Given the description of an element on the screen output the (x, y) to click on. 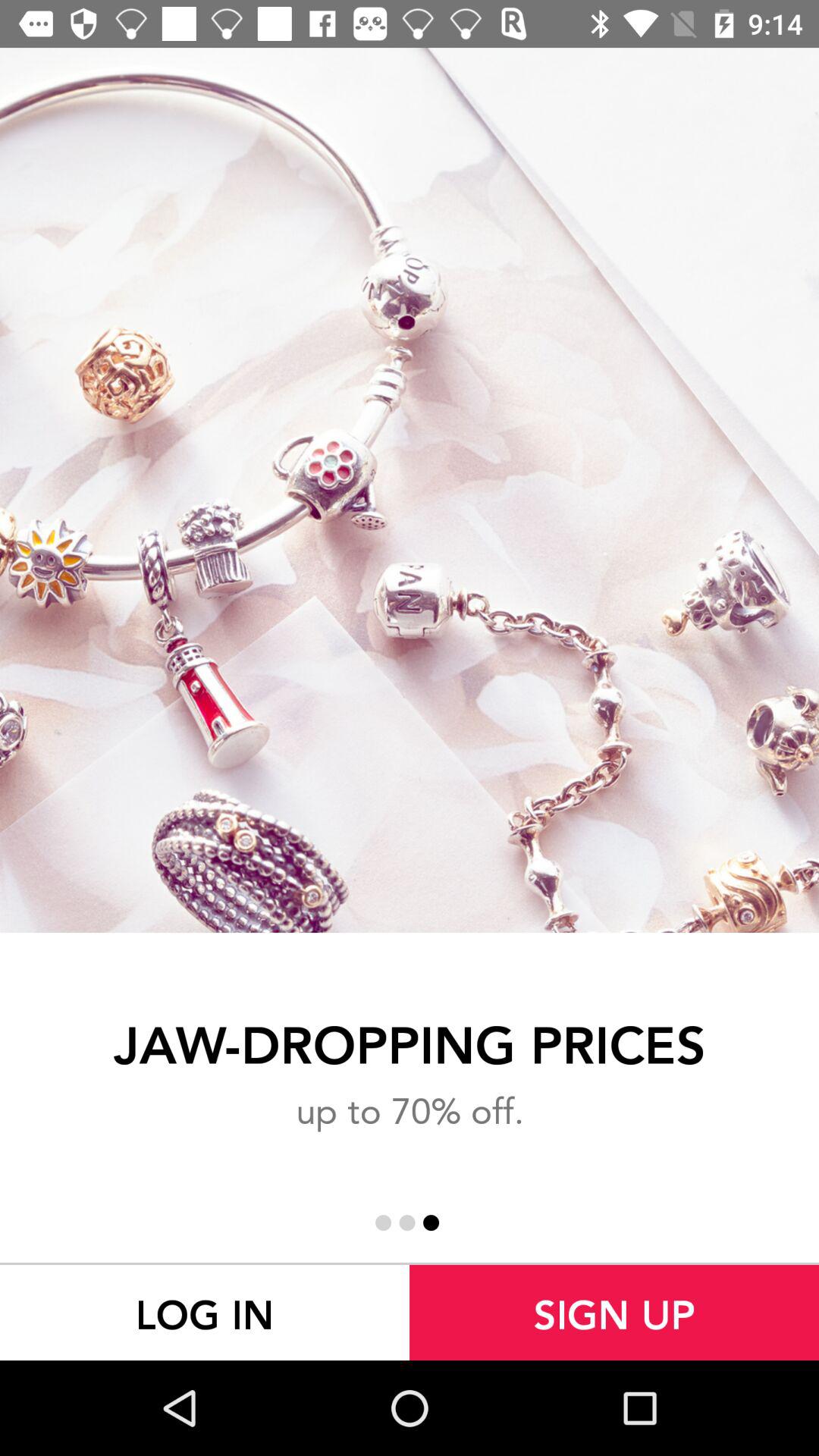
choose icon next to sign up (204, 1312)
